Given the description of an element on the screen output the (x, y) to click on. 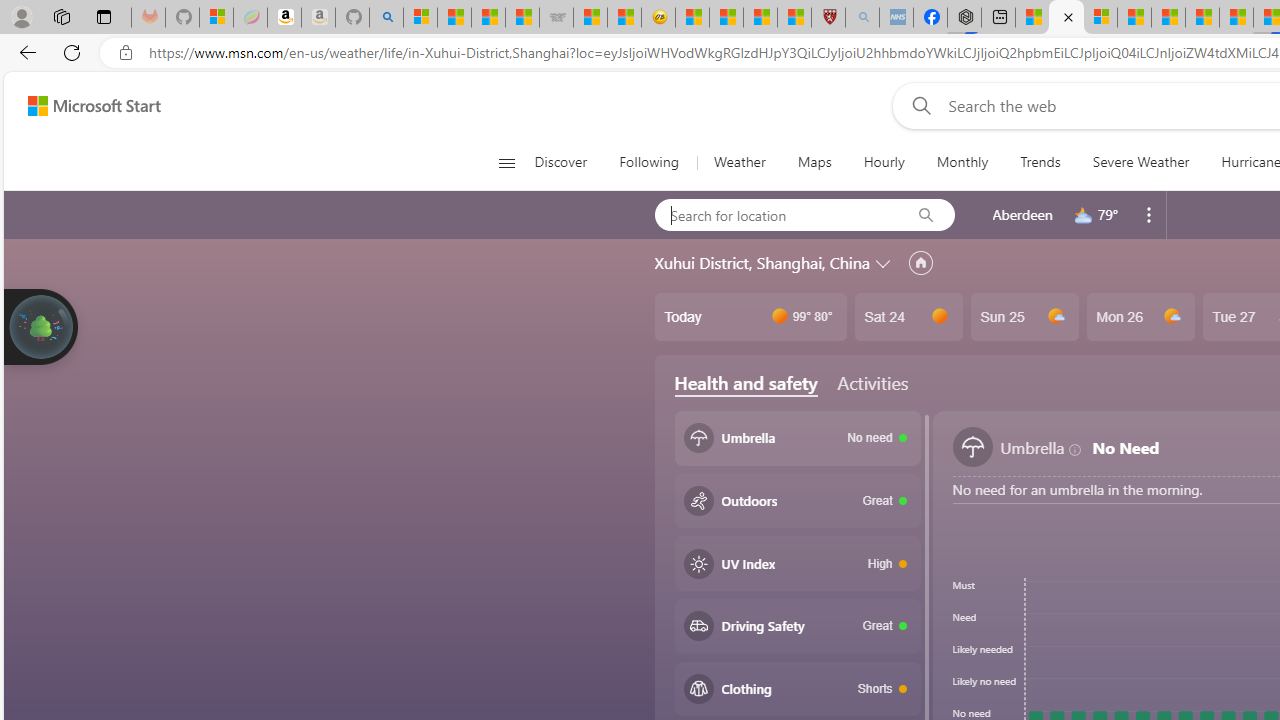
Monthly (962, 162)
Severe Weather (1140, 162)
Trends (1039, 162)
Sat 24 (907, 317)
Clothing Shorts (797, 688)
